Given the description of an element on the screen output the (x, y) to click on. 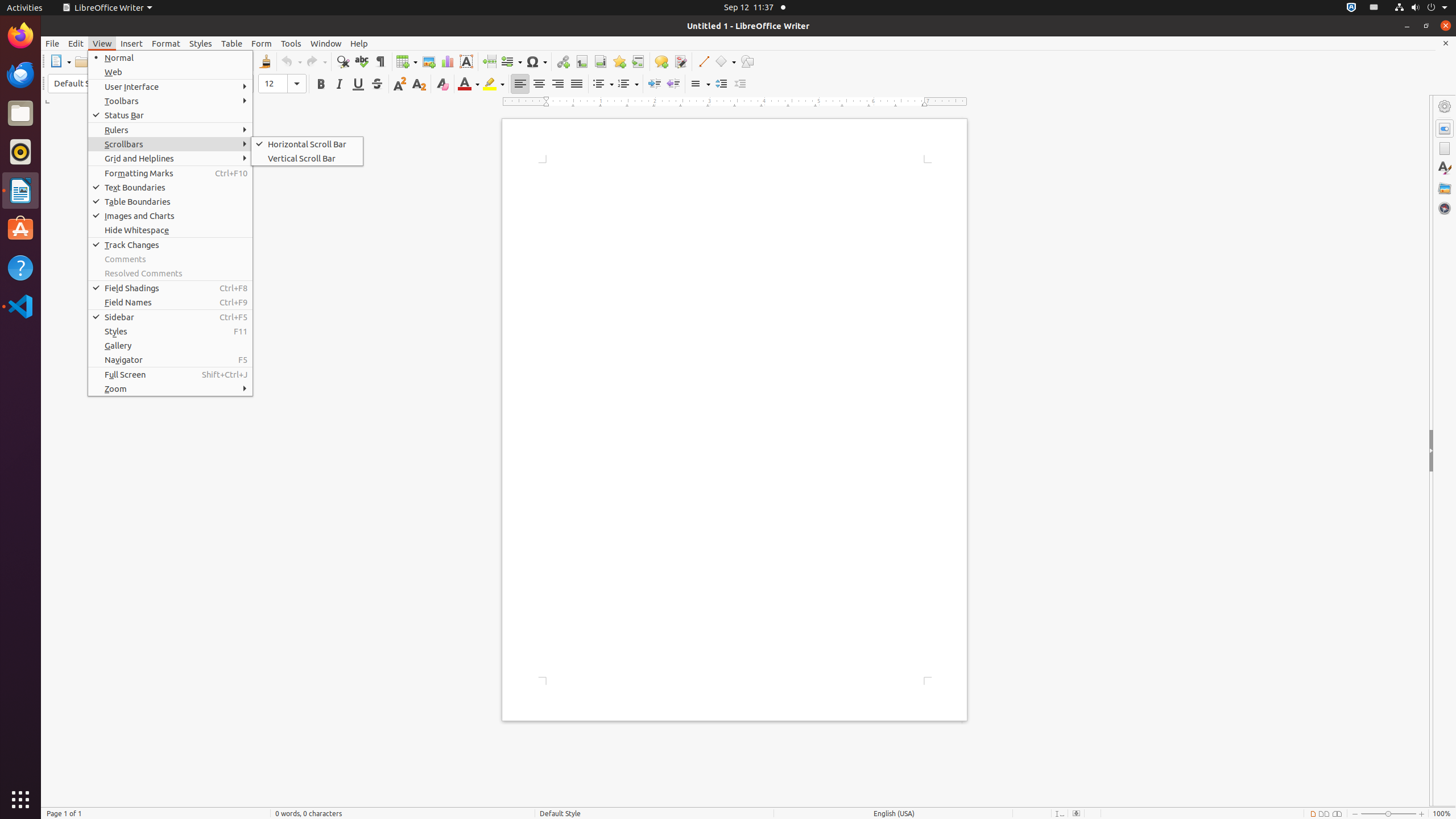
Bullets Element type: push-button (602, 83)
Text Box Element type: push-button (465, 61)
Decrease Element type: push-button (739, 83)
org.kde.StatusNotifierItem-14077-1 Element type: menu (1373, 7)
Table Boundaries Element type: check-menu-item (170, 201)
